Given the description of an element on the screen output the (x, y) to click on. 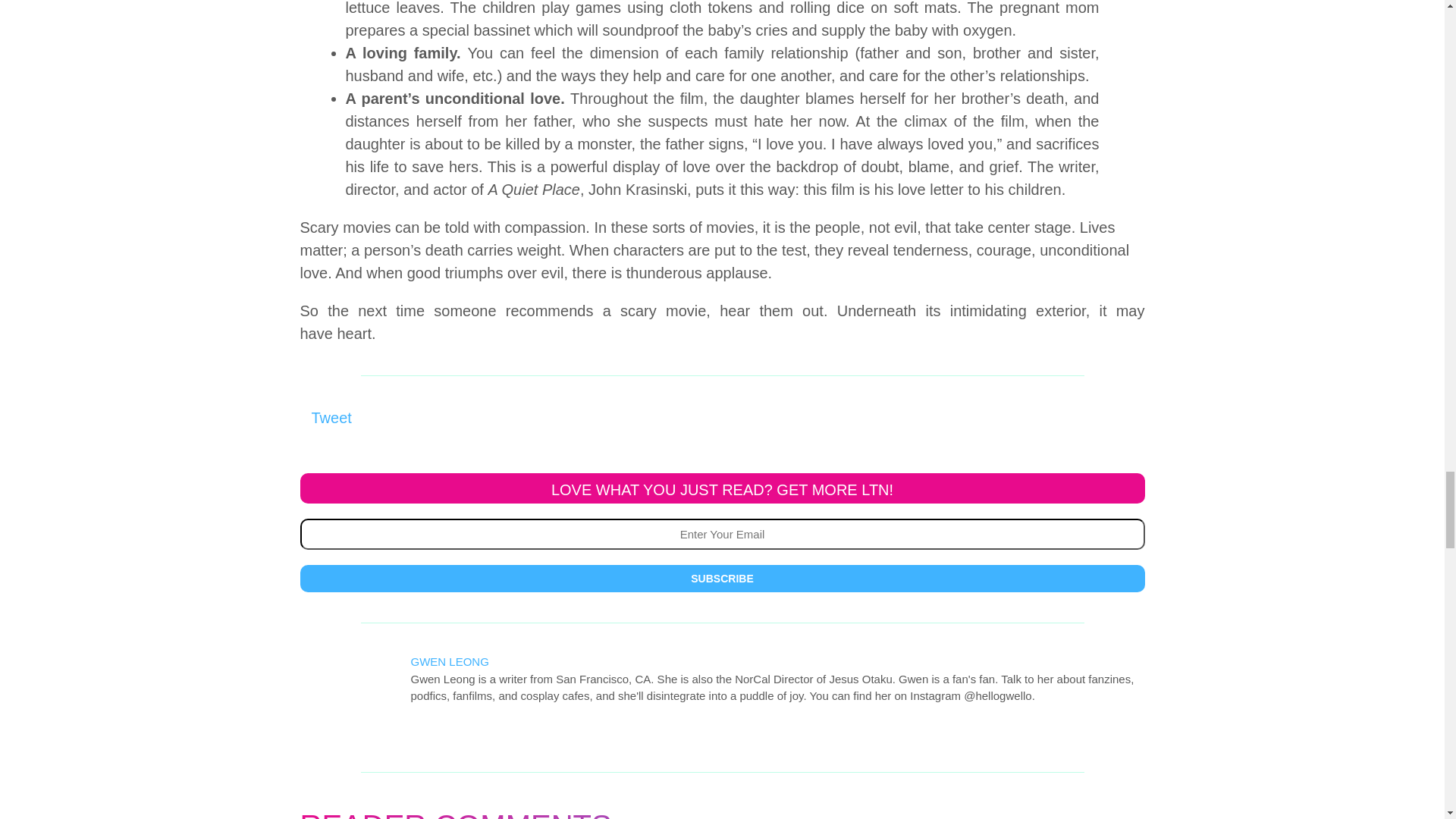
Tweet (330, 417)
Posts by Gwen Leong (449, 661)
SUBSCRIBE (721, 578)
GWEN LEONG (449, 661)
SUBSCRIBE (721, 578)
